Given the description of an element on the screen output the (x, y) to click on. 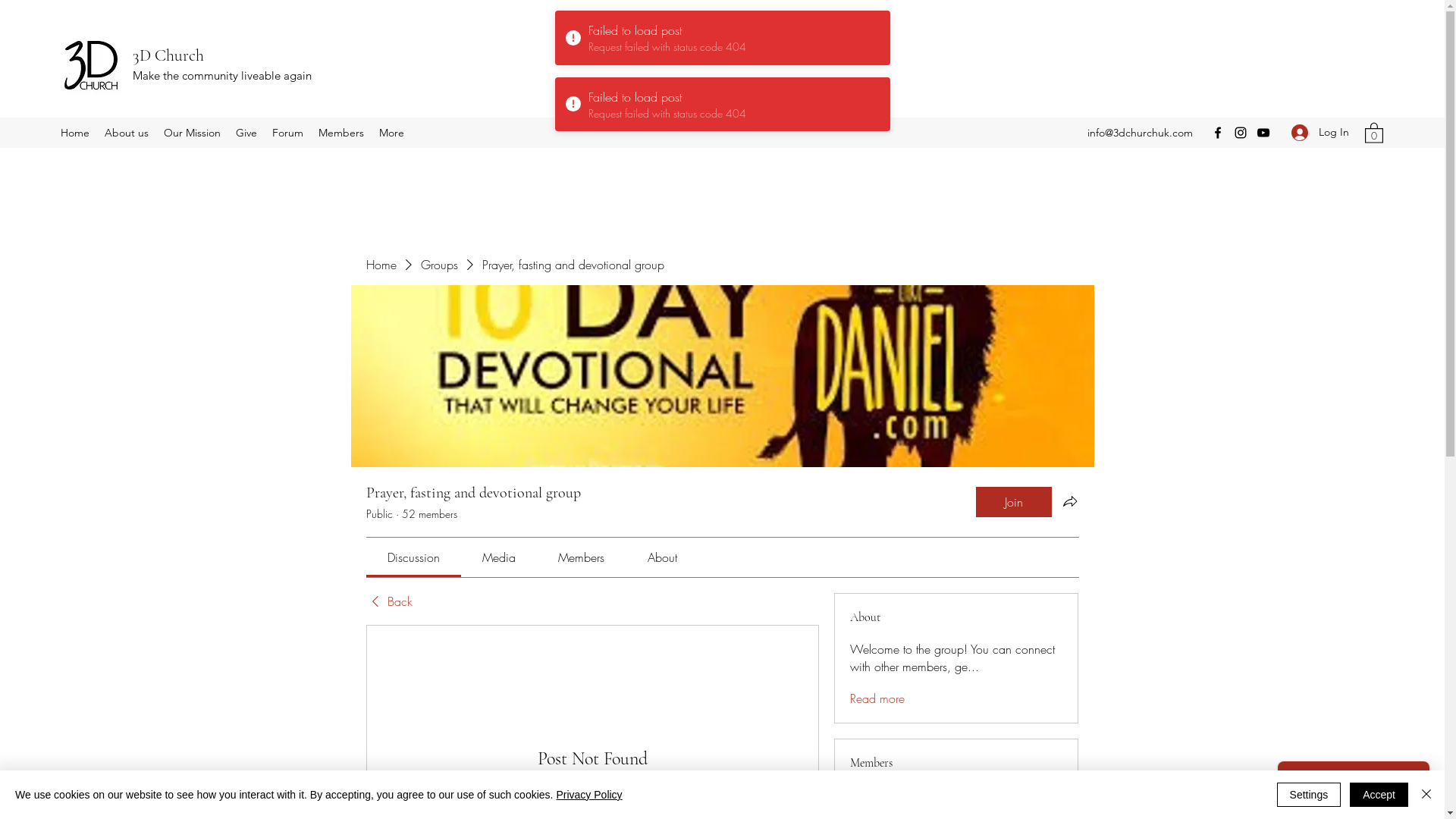
Accept Element type: text (1378, 794)
Home Element type: text (75, 132)
About us Element type: text (126, 132)
Groups Element type: text (438, 264)
0 Element type: text (1374, 132)
info@3dchurchuk.com Element type: text (1139, 132)
Join Element type: text (1013, 501)
Give Element type: text (246, 132)
Our Mission Element type: text (192, 132)
Settings Element type: text (1309, 794)
Read more Element type: text (877, 698)
3D Church Element type: text (167, 55)
Privacy Policy Element type: text (588, 794)
3dchurchuk Element type: text (915, 795)
Home Element type: text (380, 264)
Log In Element type: text (1319, 132)
Back Element type: text (388, 601)
Forum Element type: text (287, 132)
Members Element type: text (340, 132)
